Given the description of an element on the screen output the (x, y) to click on. 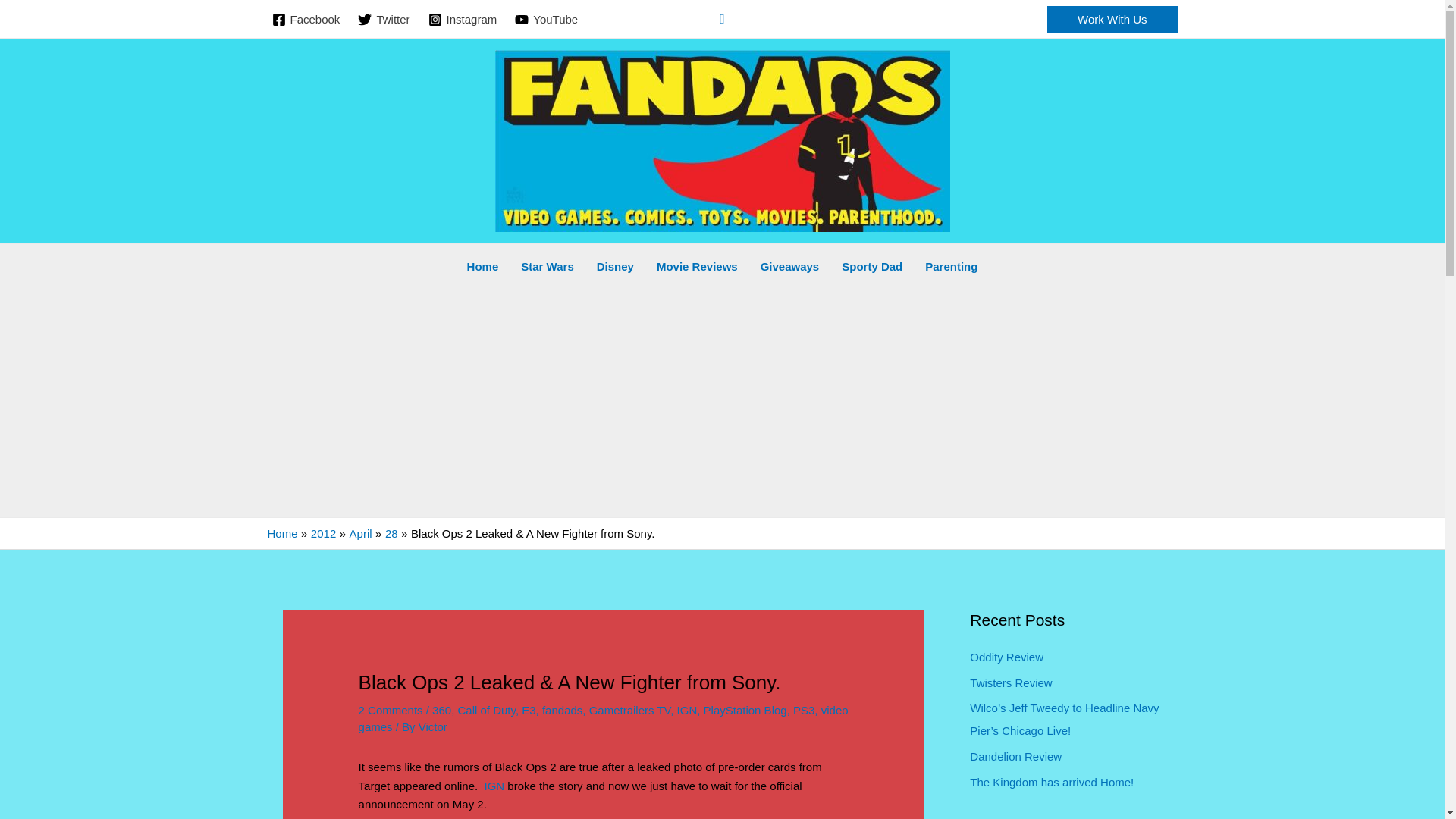
Star Wars (547, 266)
Work With Us (1111, 18)
28 (391, 533)
Twitter (383, 19)
Gametrailers TV (630, 709)
2 Comments (390, 709)
April (360, 533)
Home (281, 533)
360 (441, 709)
Sporty Dad (871, 266)
Call of Duty (486, 709)
Disney (615, 266)
Instagram (462, 19)
Giveaways (790, 266)
